Given the description of an element on the screen output the (x, y) to click on. 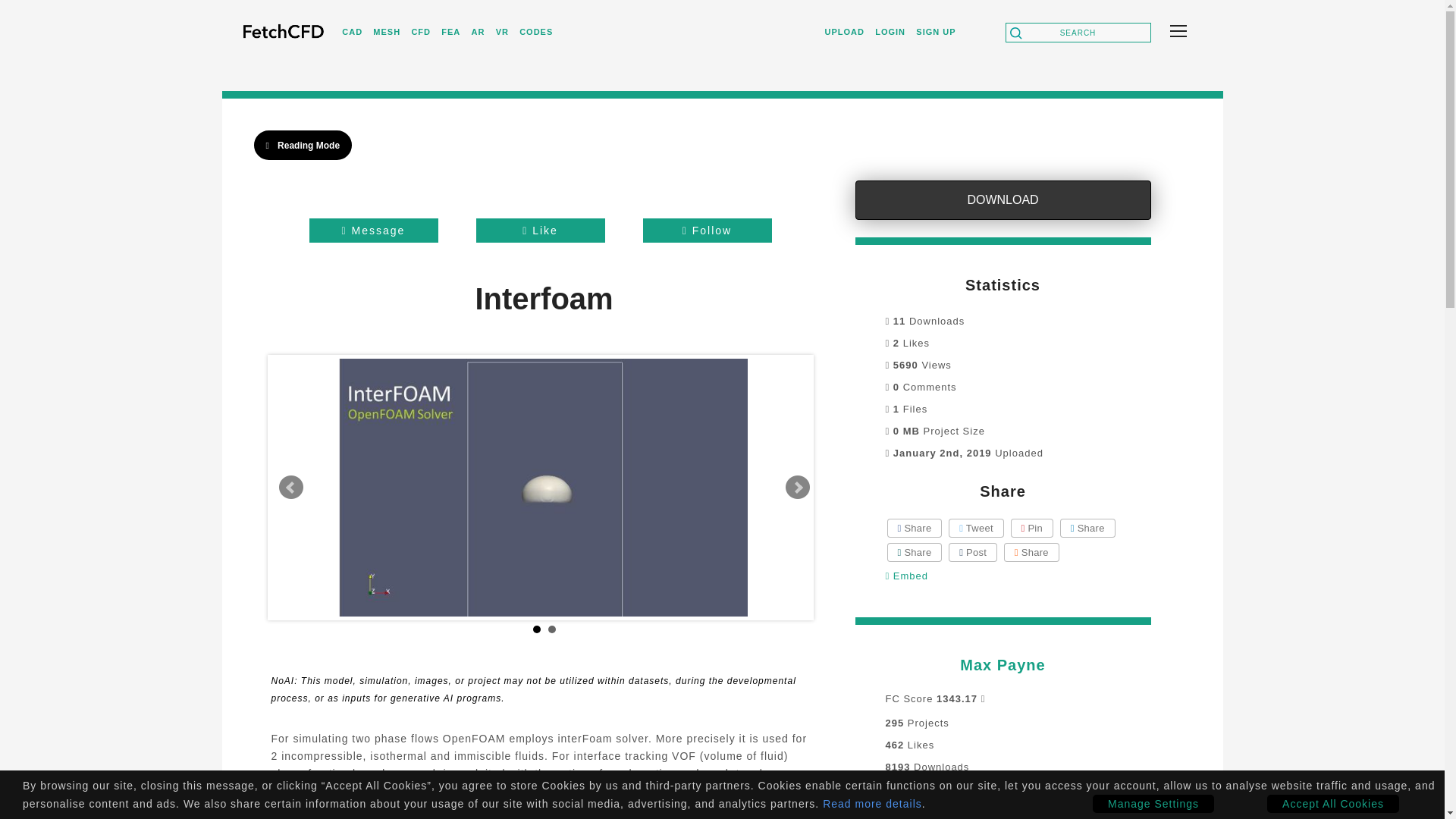
To Search FetchCFD Type And Hit Enter (1078, 32)
Upload Project (844, 30)
Manage Settings (1153, 803)
CODES (536, 30)
MESH (386, 30)
CAD (352, 30)
LOGIN (890, 30)
Codes, Scripts, UDF And More (536, 30)
CAD Models (352, 31)
FEA (450, 30)
CFD (420, 30)
Sign Up For Free (935, 31)
VR (502, 30)
Finite Element Analysis Projects (450, 31)
Accept All Cookies (1332, 803)
